Given the description of an element on the screen output the (x, y) to click on. 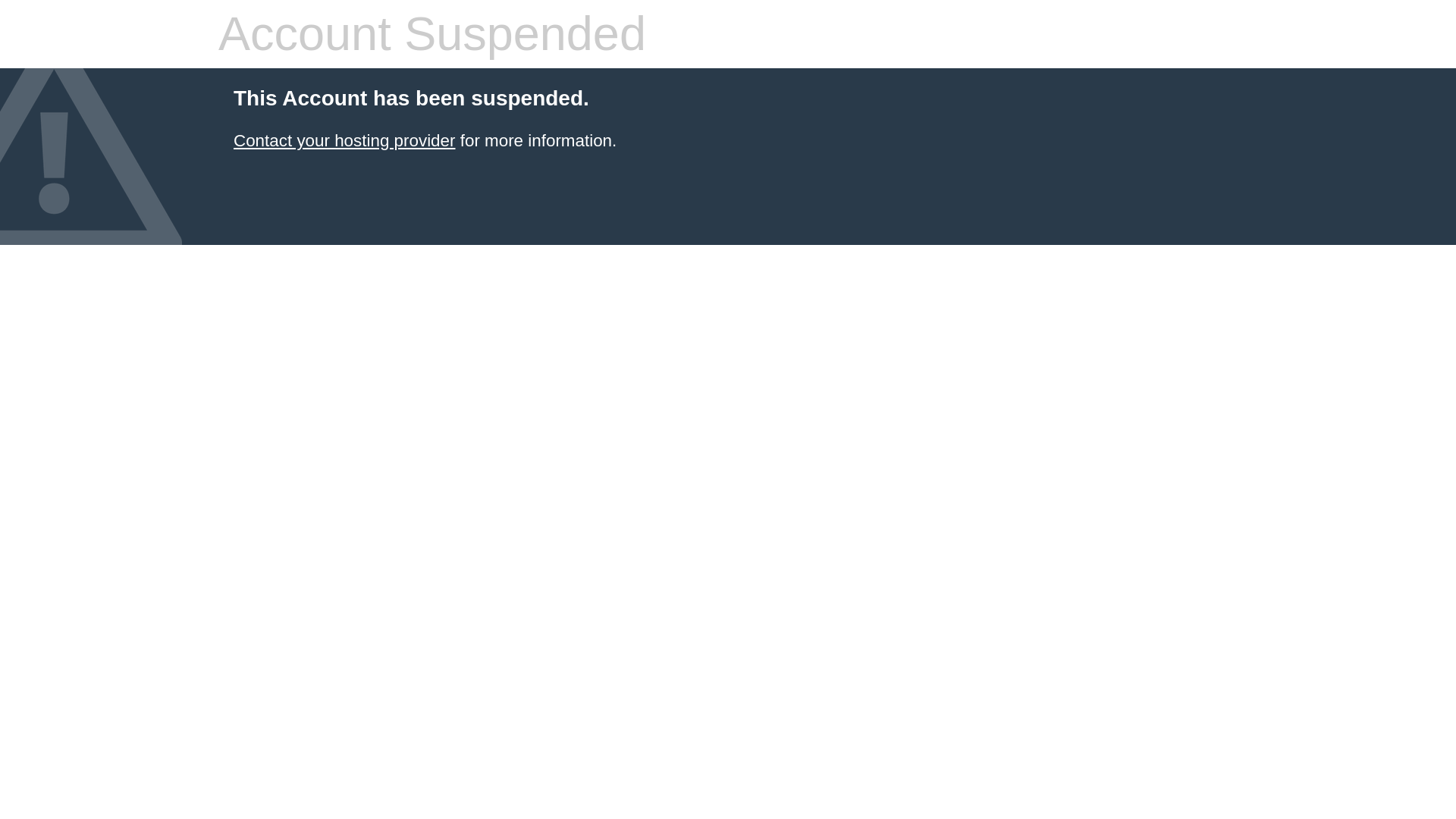
Contact your hosting provider (343, 140)
